Given the description of an element on the screen output the (x, y) to click on. 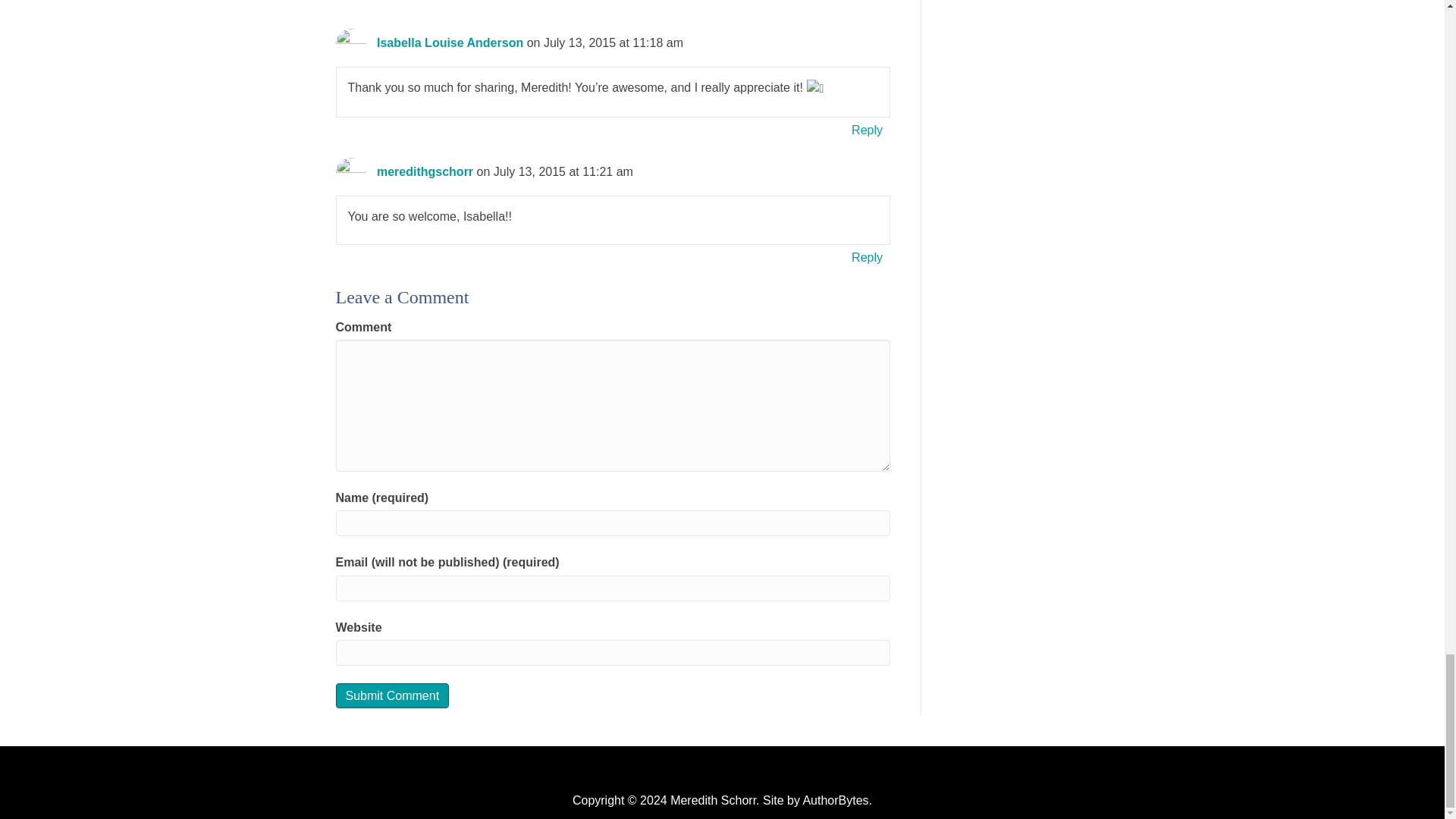
Submit Comment (391, 695)
meredithgschorr (425, 171)
Reply (866, 257)
Submit Comment (391, 695)
Reply (866, 129)
Isabella Louise Anderson (449, 42)
